Given the description of an element on the screen output the (x, y) to click on. 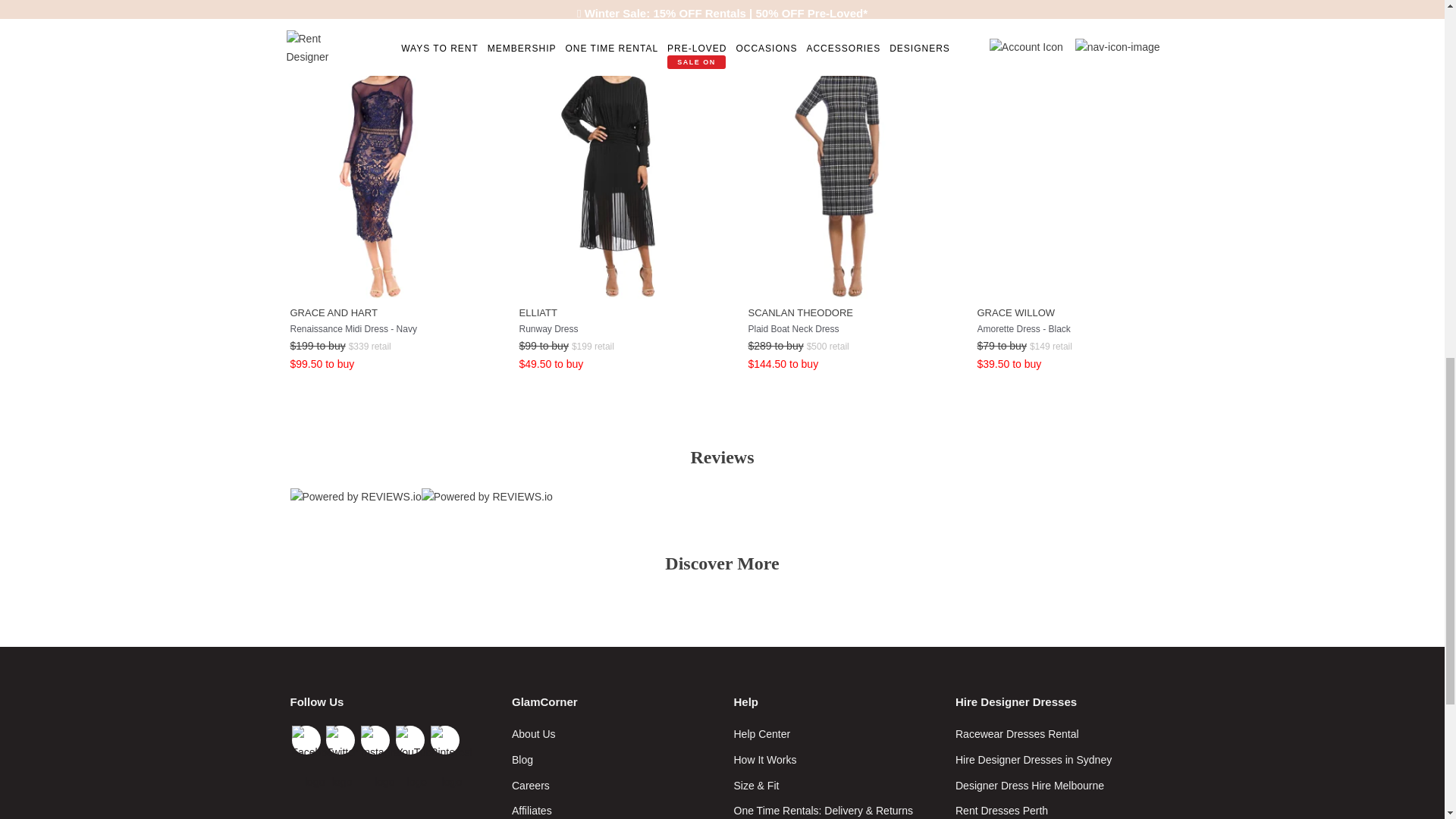
Instagram (375, 739)
Youtube (410, 739)
Facebook (305, 739)
Twitter (340, 739)
Pinterest (445, 739)
